Given the description of an element on the screen output the (x, y) to click on. 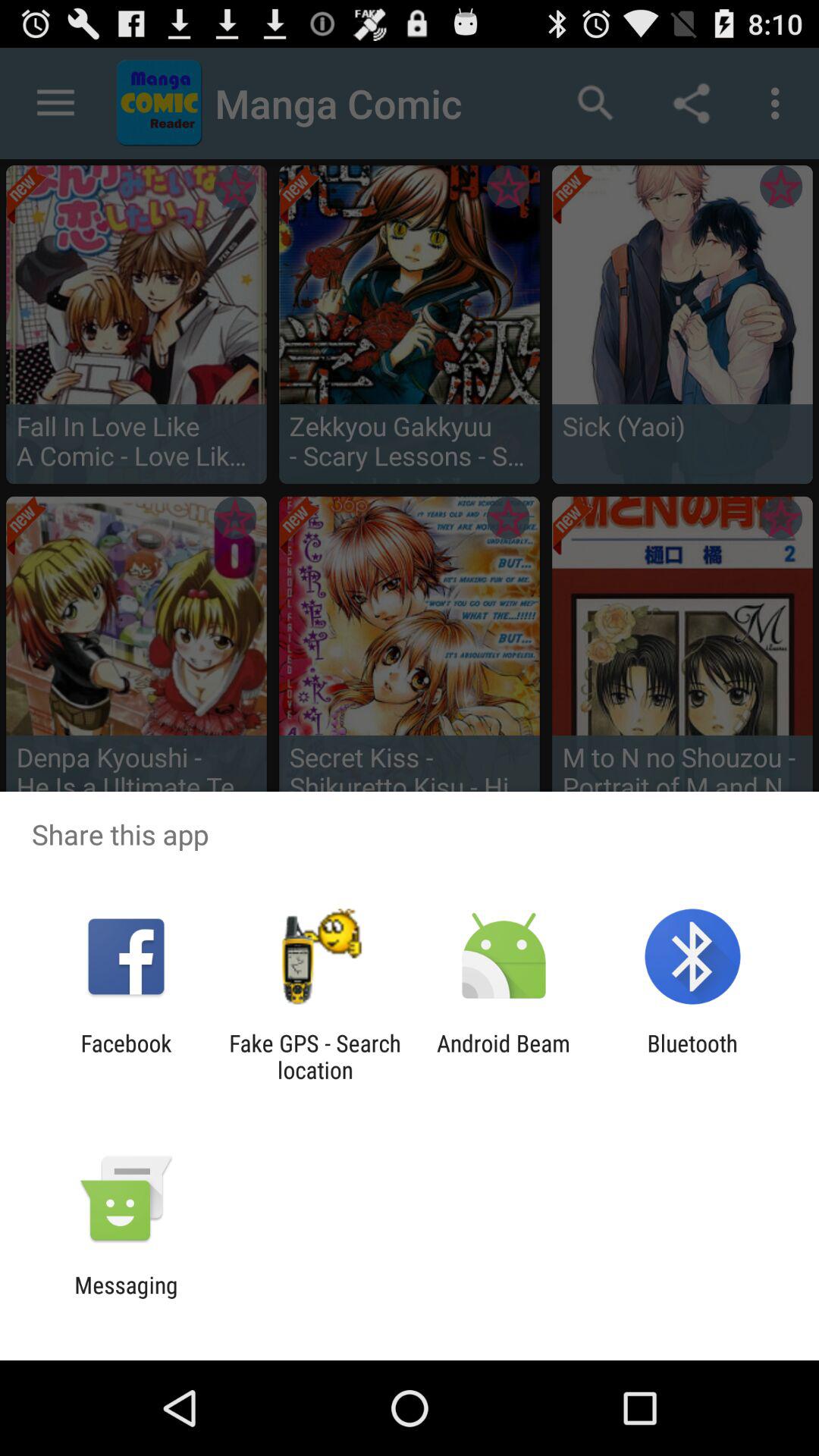
launch the messaging (126, 1298)
